Given the description of an element on the screen output the (x, y) to click on. 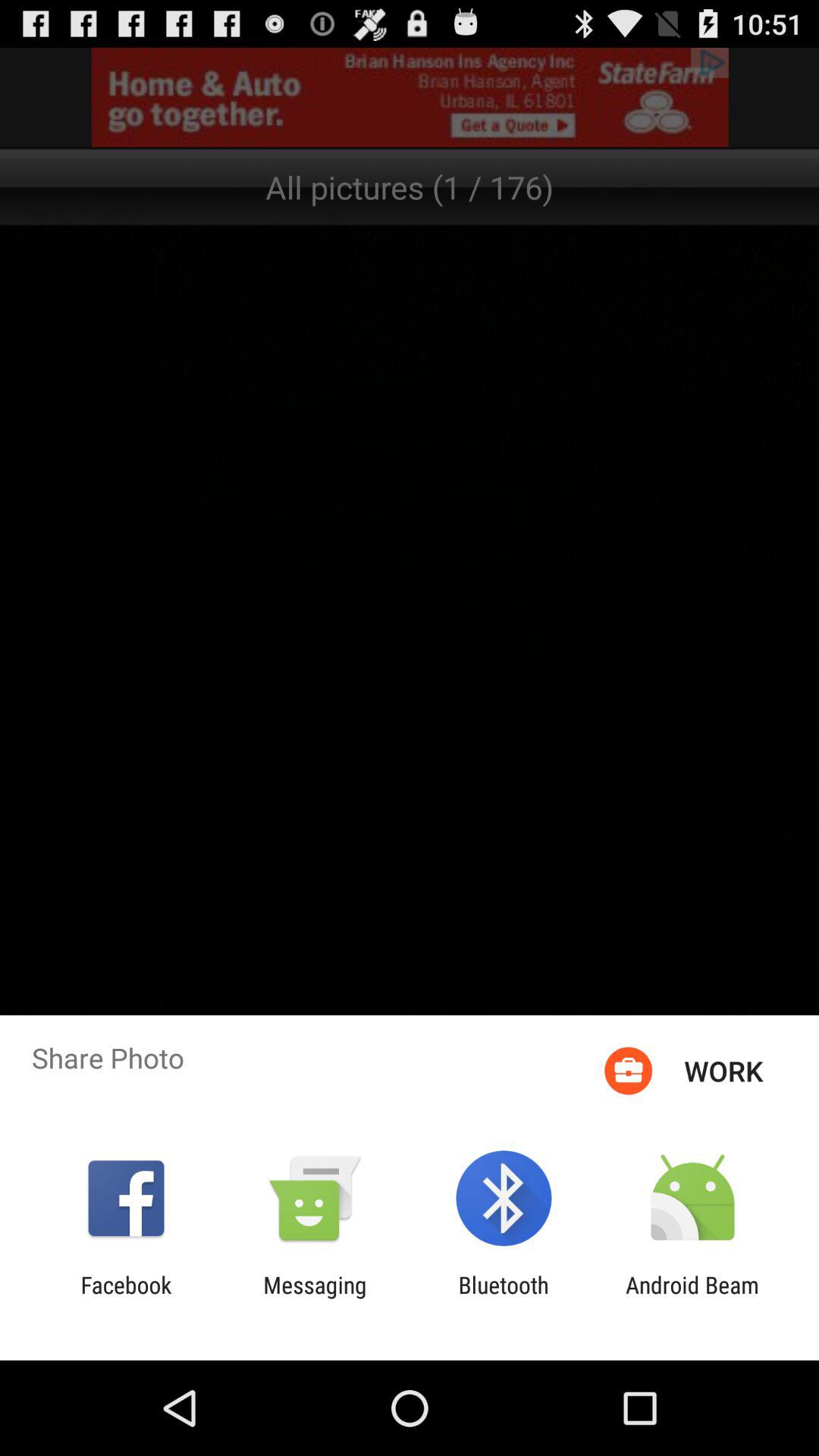
press facebook icon (125, 1298)
